Given the description of an element on the screen output the (x, y) to click on. 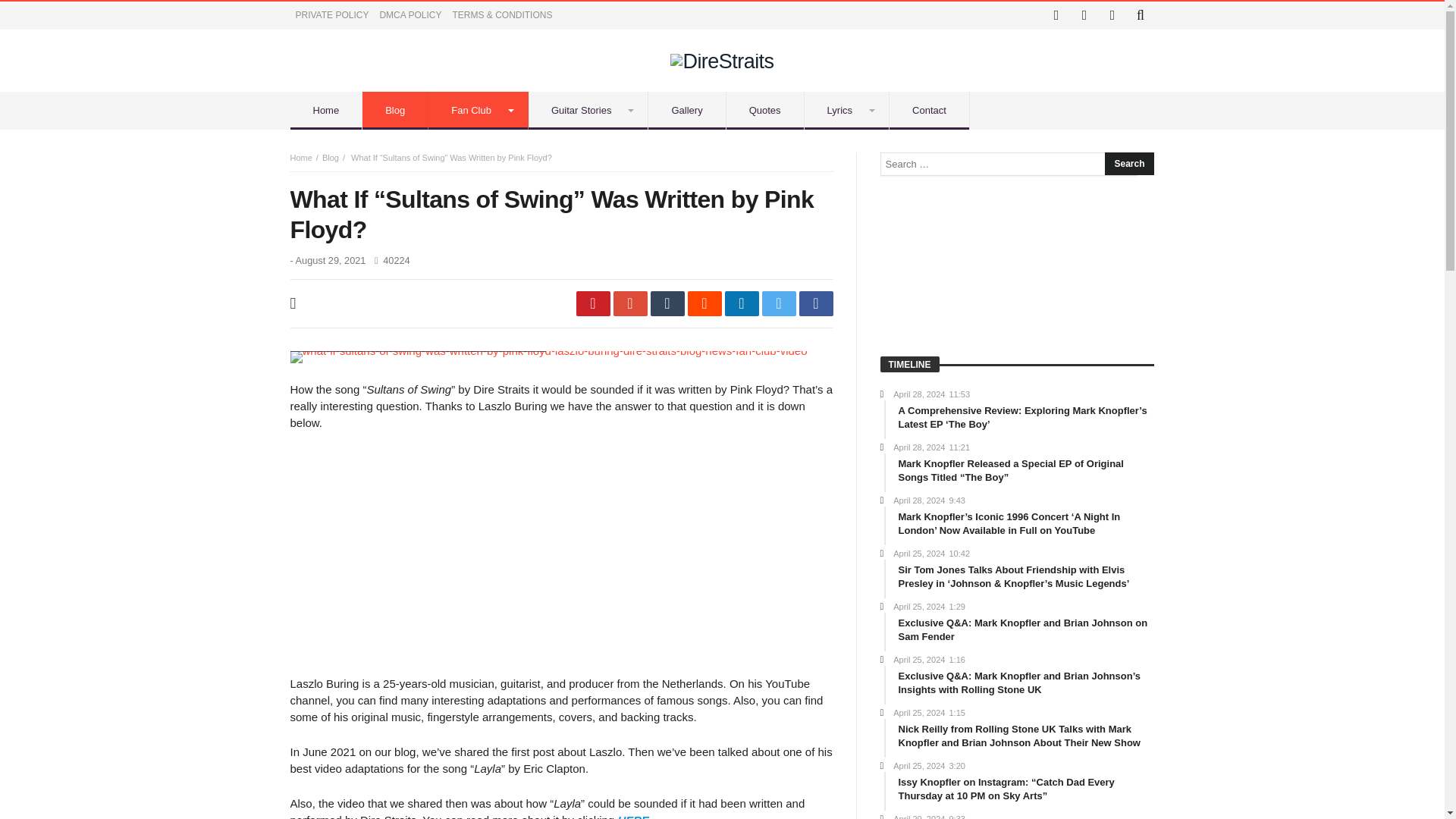
instagram (1084, 15)
DMCA POLICY (409, 15)
reddit (703, 303)
Rss (1111, 15)
PRIVATE POLICY (332, 15)
Search (1129, 163)
twitter (777, 303)
Blog (330, 157)
Facebook (1056, 15)
Search (1129, 163)
